Given the description of an element on the screen output the (x, y) to click on. 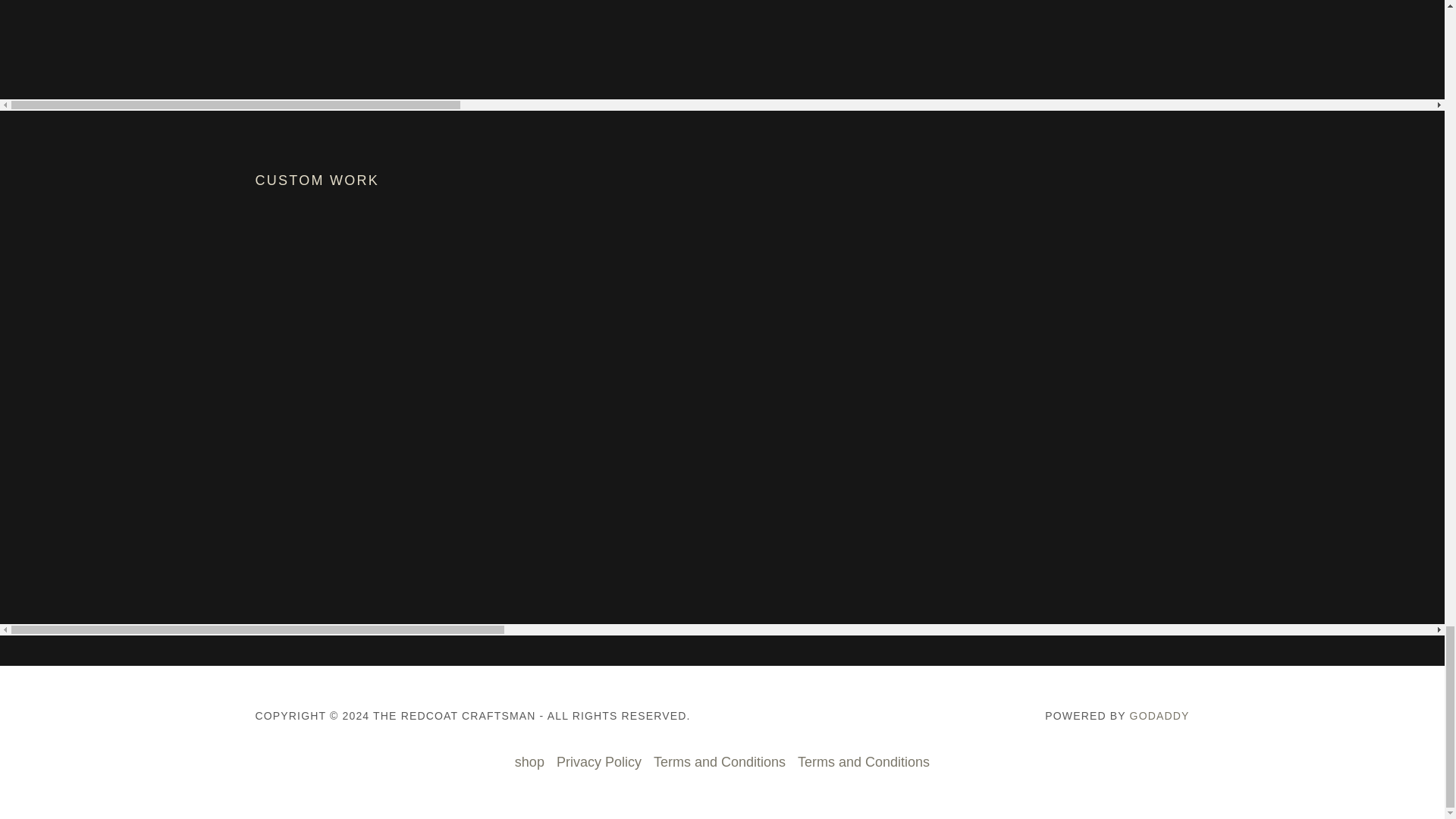
Terms and Conditions (719, 762)
Privacy Policy (598, 762)
shop (529, 762)
Terms and Conditions (864, 762)
GODADDY (1159, 715)
